Given the description of an element on the screen output the (x, y) to click on. 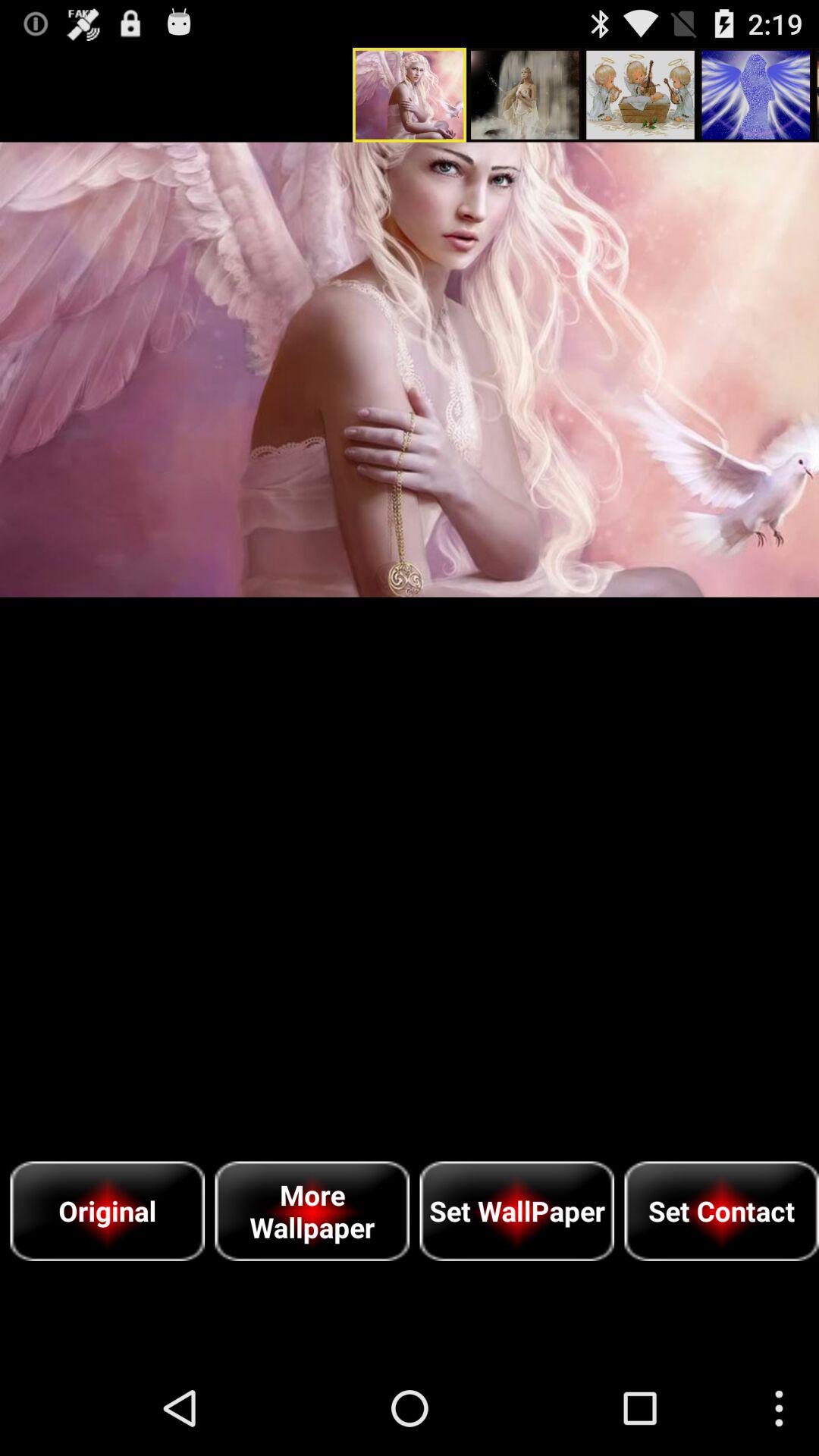
select the original item (107, 1210)
